Given the description of an element on the screen output the (x, y) to click on. 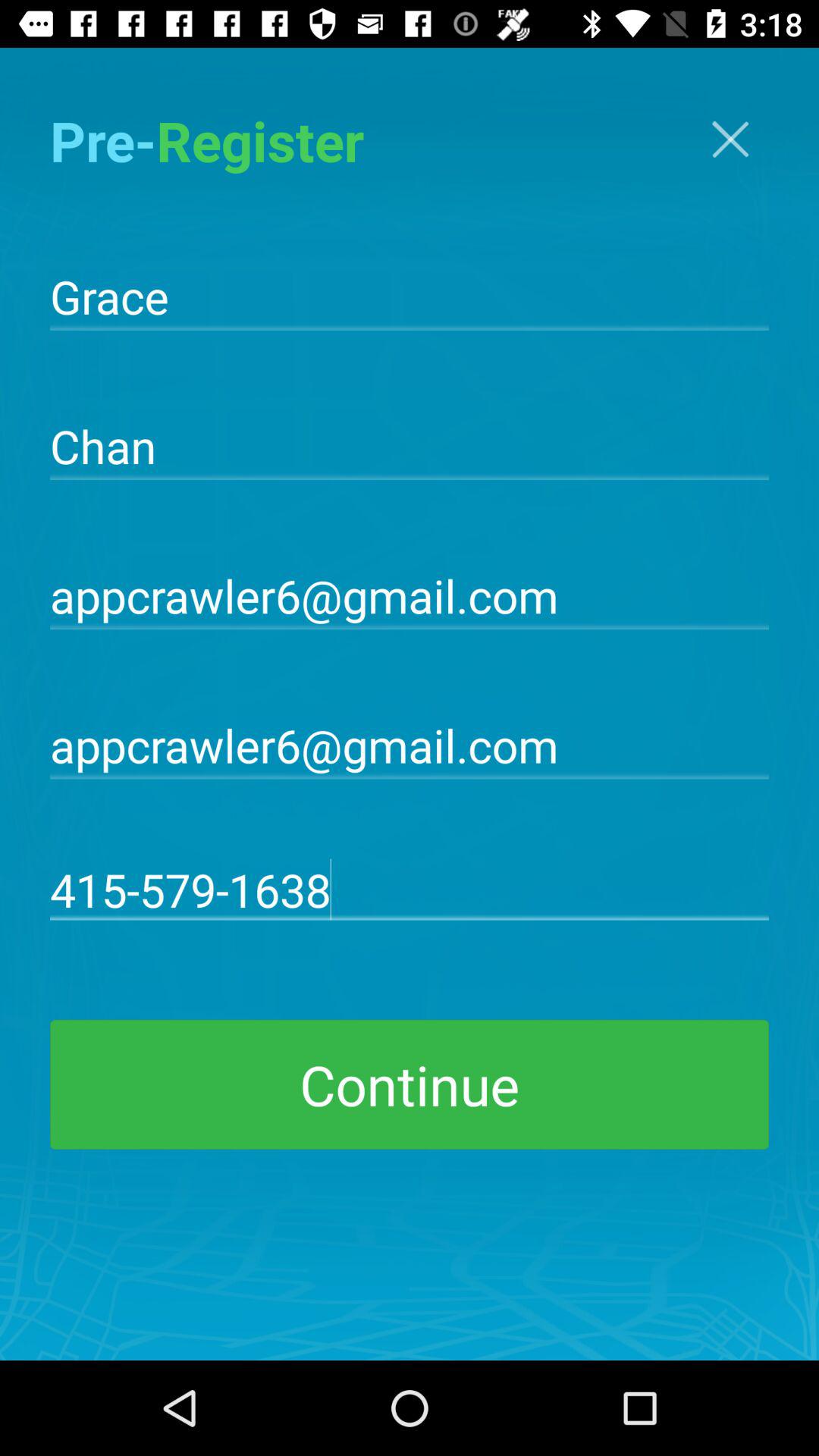
open icon above the continue icon (409, 889)
